Given the description of an element on the screen output the (x, y) to click on. 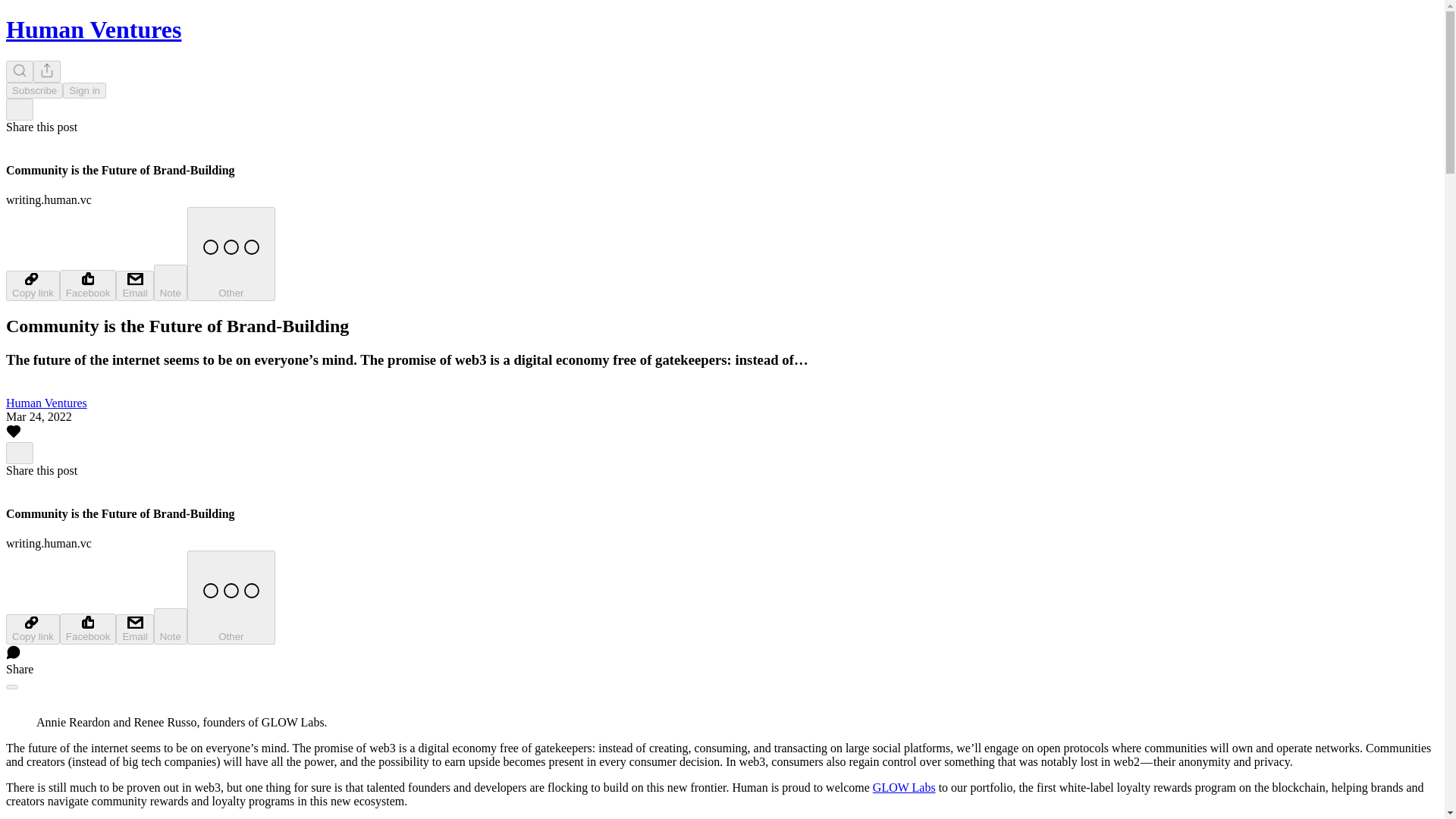
Human Ventures (92, 29)
Email (134, 286)
Copy link (32, 629)
Facebook (87, 628)
Facebook (87, 285)
Sign in (84, 90)
Email (134, 629)
Human Ventures (46, 402)
Other (231, 597)
Subscribe (33, 90)
